Given the description of an element on the screen output the (x, y) to click on. 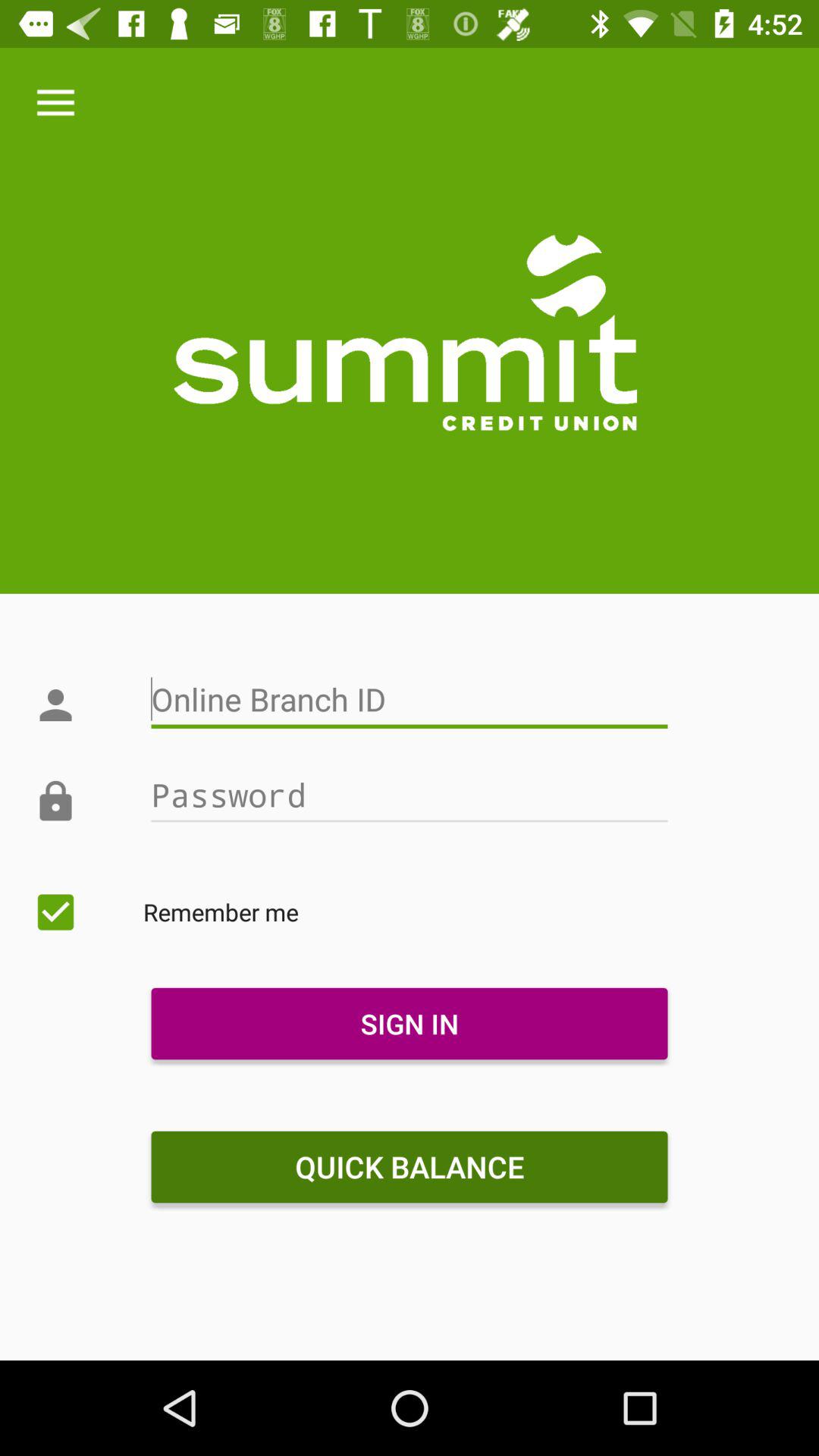
press sign in item (409, 1023)
